Given the description of an element on the screen output the (x, y) to click on. 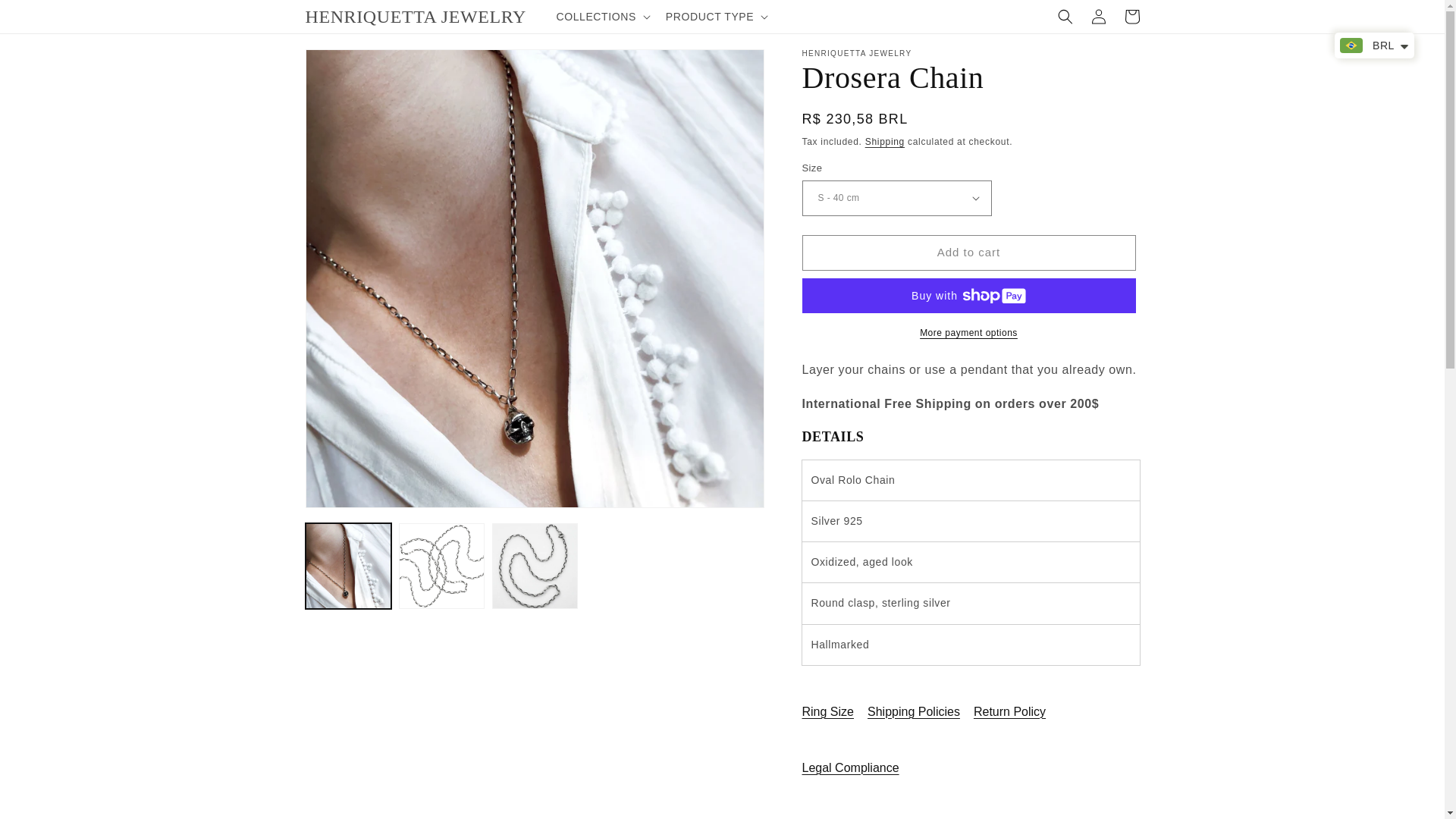
HENRIQUETTA JEWELRY (415, 16)
Log in (1098, 16)
Skip to content (45, 17)
